Given the description of an element on the screen output the (x, y) to click on. 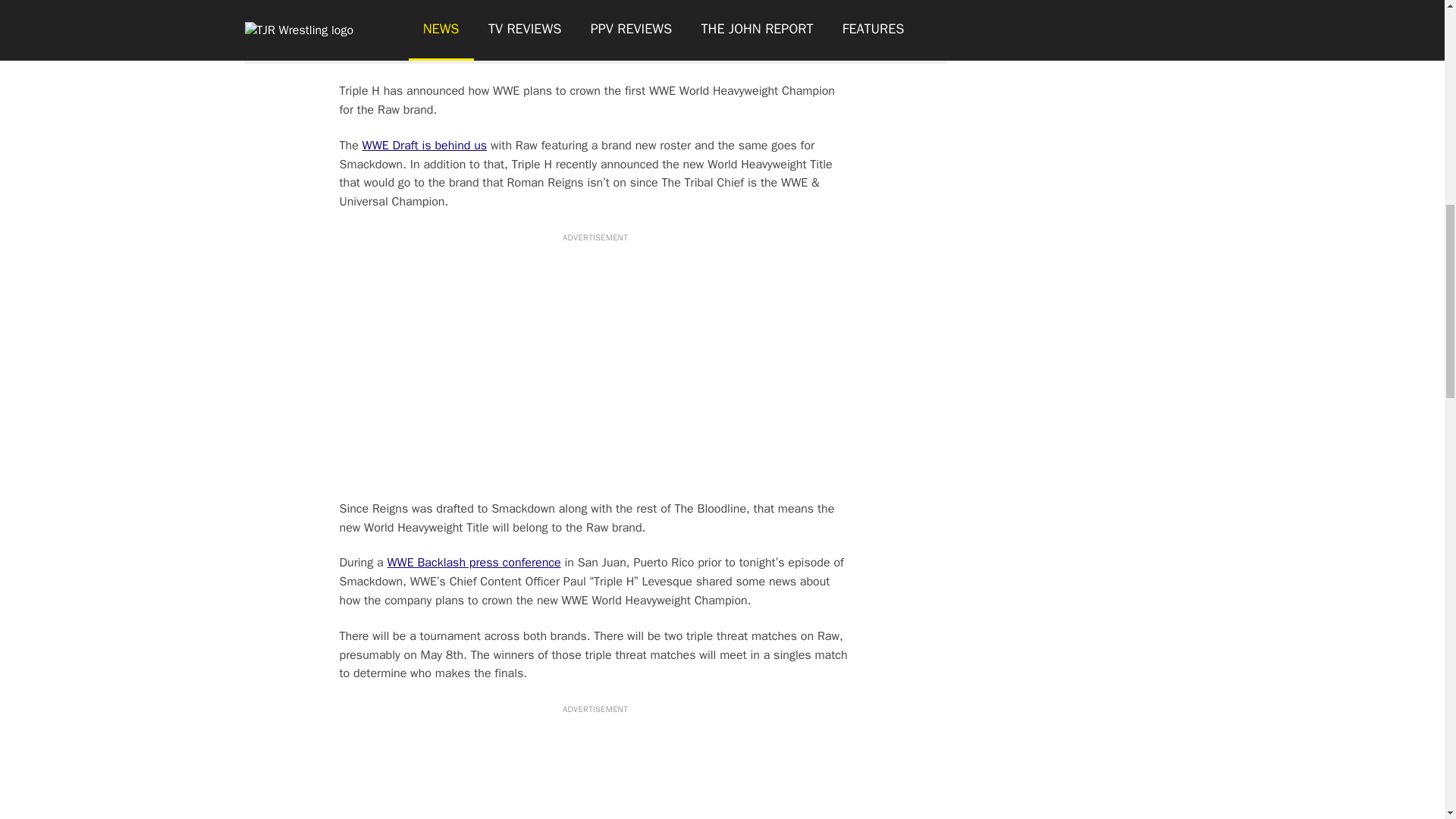
WWE Draft is behind us (424, 145)
WWE Backlash press conference (473, 562)
